Given the description of an element on the screen output the (x, y) to click on. 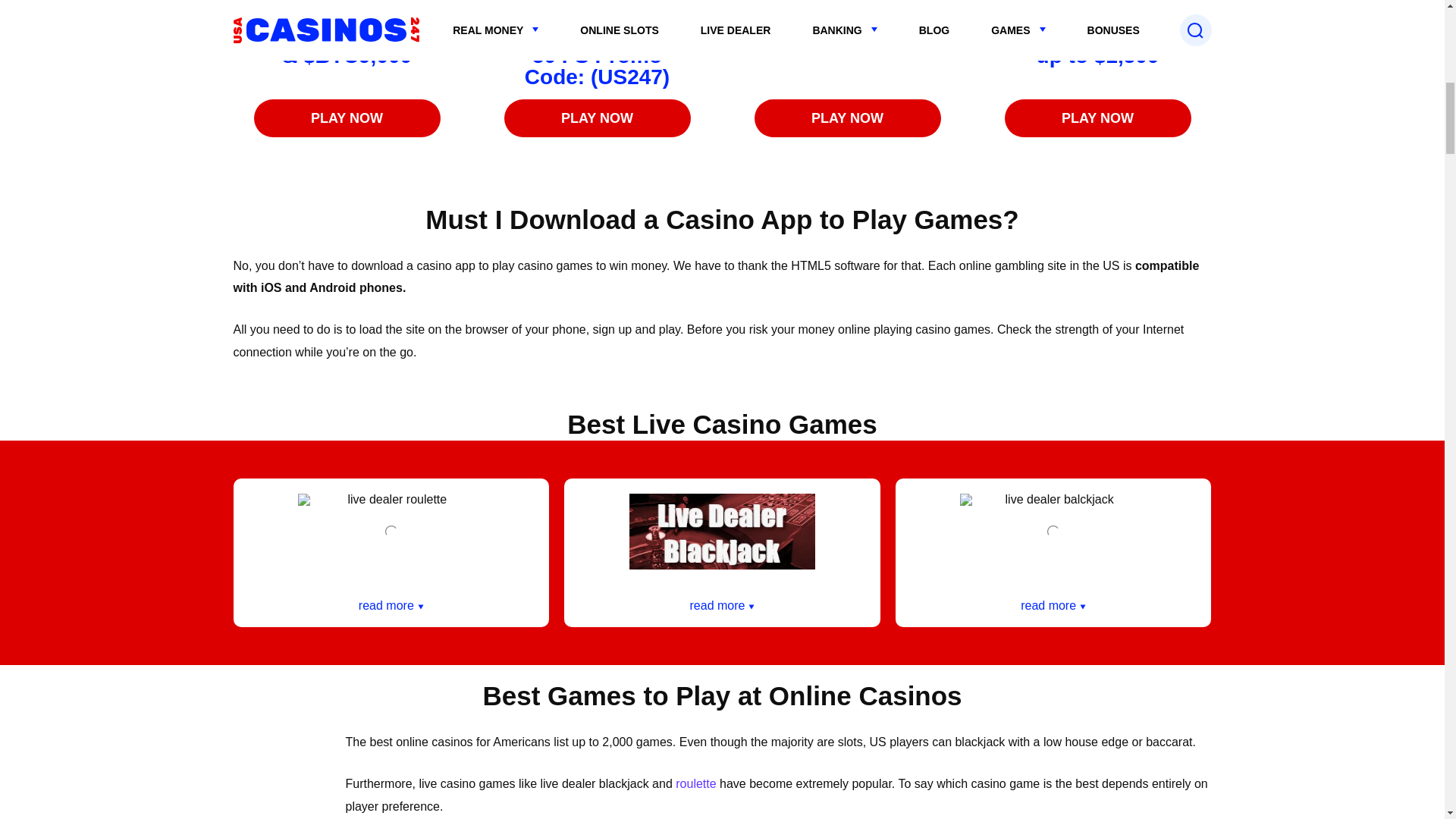
PLAY NOW (346, 118)
PLAY NOW (847, 118)
PLAY NOW (1097, 118)
PLAY NOW (596, 118)
